Given the description of an element on the screen output the (x, y) to click on. 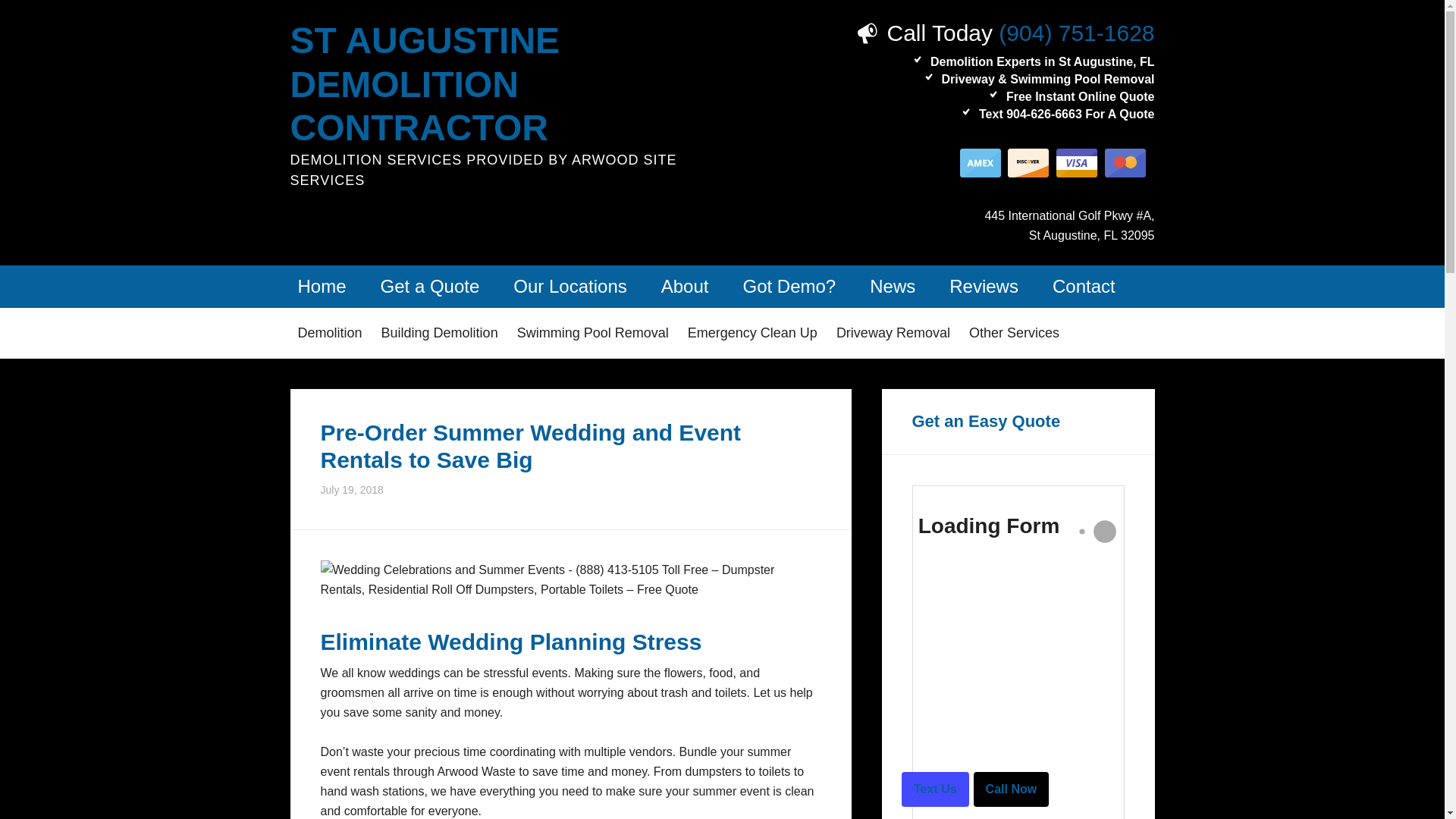
Demolition (329, 332)
Building Demolition (439, 332)
Swimming Pool Removal (593, 332)
Reviews (984, 286)
ST AUGUSTINE DEMOLITION CONTRACTOR (424, 84)
Got Demo? (789, 286)
Our Locations (569, 286)
About (684, 286)
Driveway Removal (893, 332)
News (892, 286)
Contact (1083, 286)
Get a Quote (429, 286)
Other Services (1013, 332)
Home (321, 286)
Emergency Clean Up (752, 332)
